Given the description of an element on the screen output the (x, y) to click on. 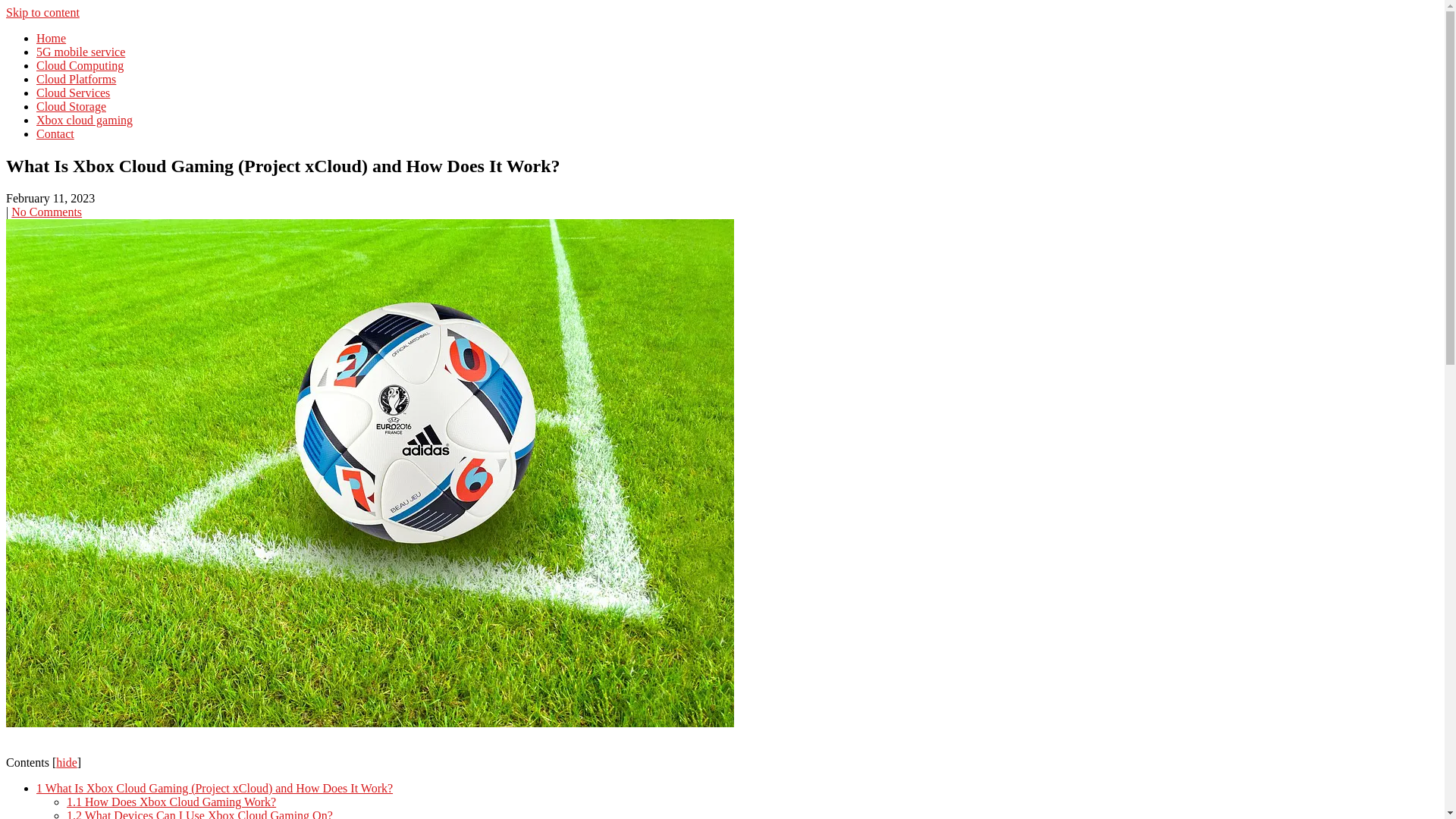
Cloud Computing Element type: text (79, 65)
Cloud Storage Element type: text (71, 106)
Cloud Services Element type: text (72, 92)
1.1 How Does Xbox Cloud Gaming Work? Element type: text (171, 801)
Home Element type: text (50, 37)
Xbox cloud gaming Element type: text (84, 119)
Contact Element type: text (55, 133)
Skip to content Element type: text (42, 12)
360 Cloud Services Element type: text (104, 61)
Cloud Platforms Element type: text (76, 78)
5G mobile service Element type: text (80, 51)
No Comments Element type: text (46, 211)
hide Element type: text (66, 762)
